Given the description of an element on the screen output the (x, y) to click on. 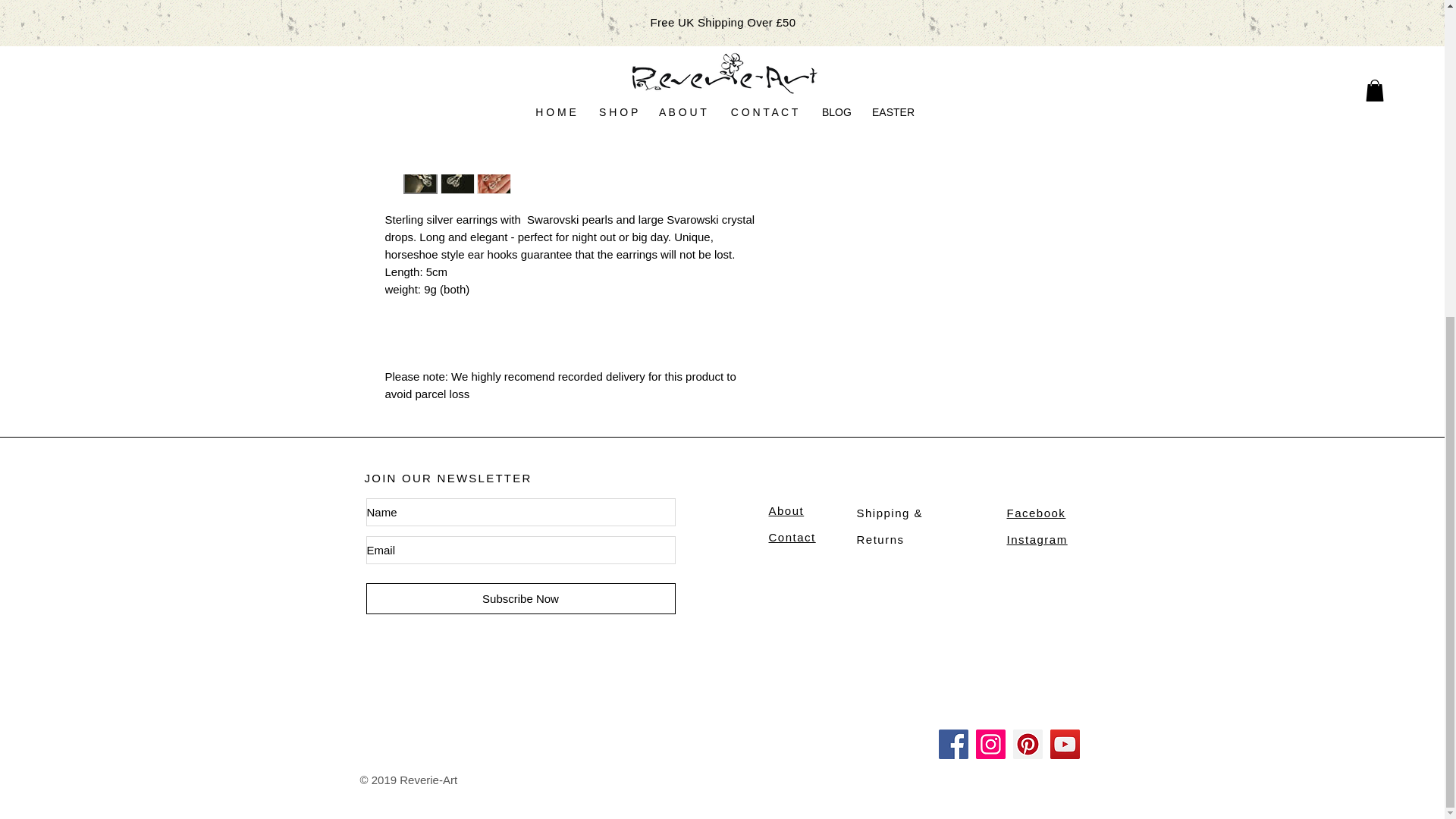
About (786, 510)
Contact (791, 535)
Facebook (1036, 512)
Add to Cart (924, 66)
Subscribe Now (520, 598)
1 (818, 13)
Instagram (1037, 539)
